Given the description of an element on the screen output the (x, y) to click on. 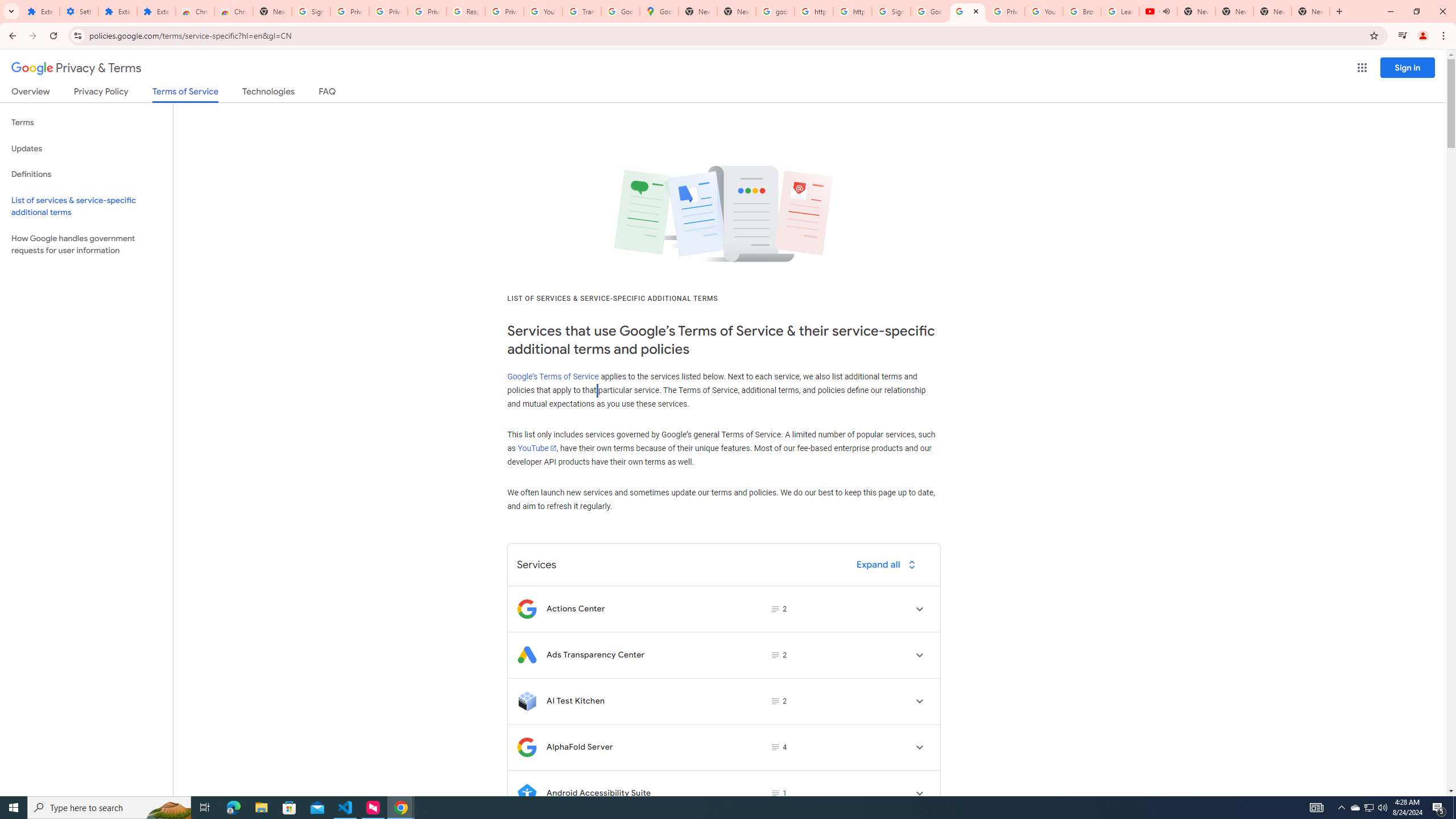
Chrome Web Store (194, 11)
New Tab (1311, 11)
Logo for Actions Center (526, 608)
Sign in - Google Accounts (310, 11)
How Google handles government requests for user information (86, 244)
